Given the description of an element on the screen output the (x, y) to click on. 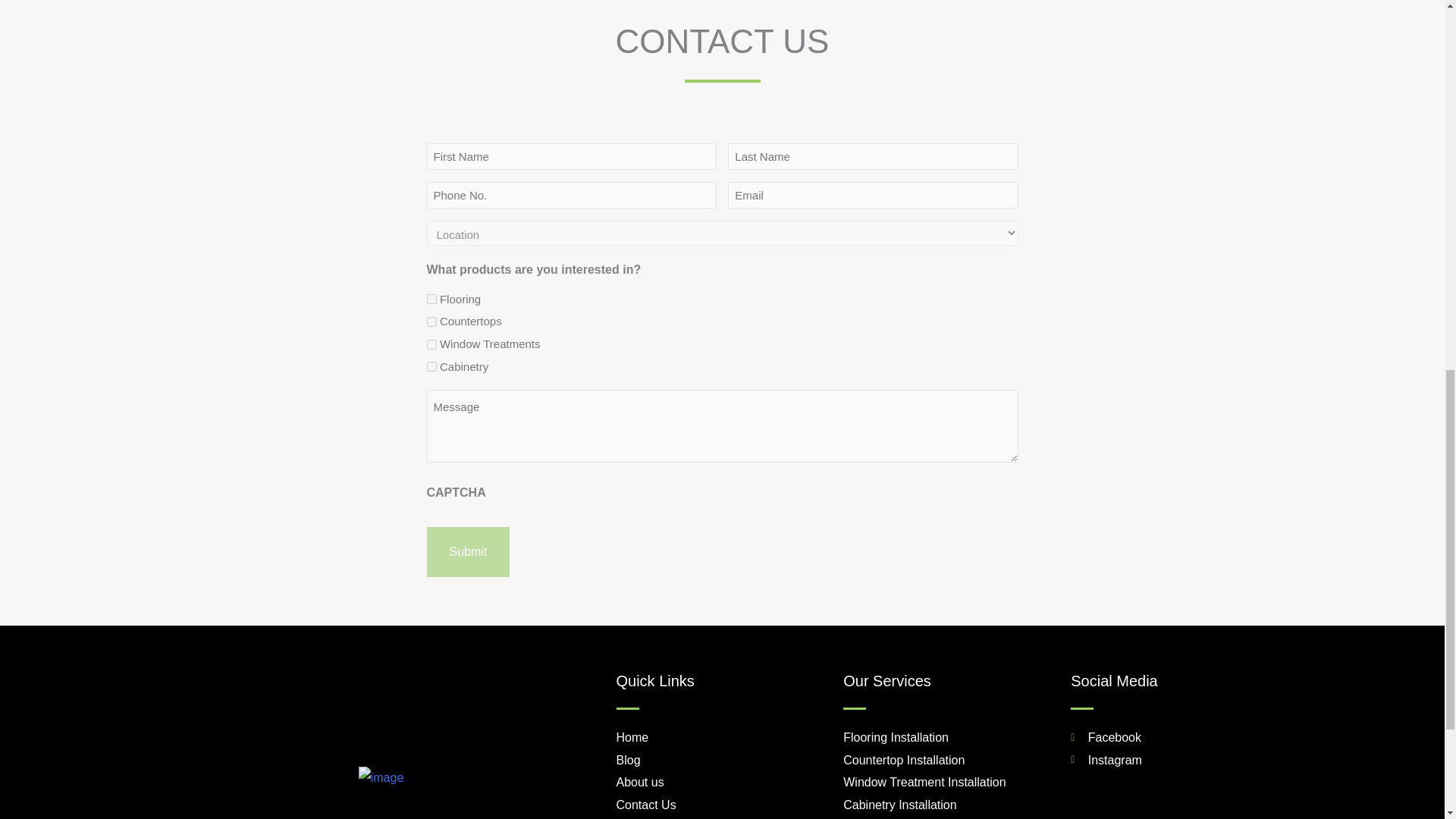
Window Treatments (430, 344)
Flooring (430, 298)
Cabinetry (430, 366)
Submit (467, 552)
Countertops (430, 321)
image (381, 777)
